Given the description of an element on the screen output the (x, y) to click on. 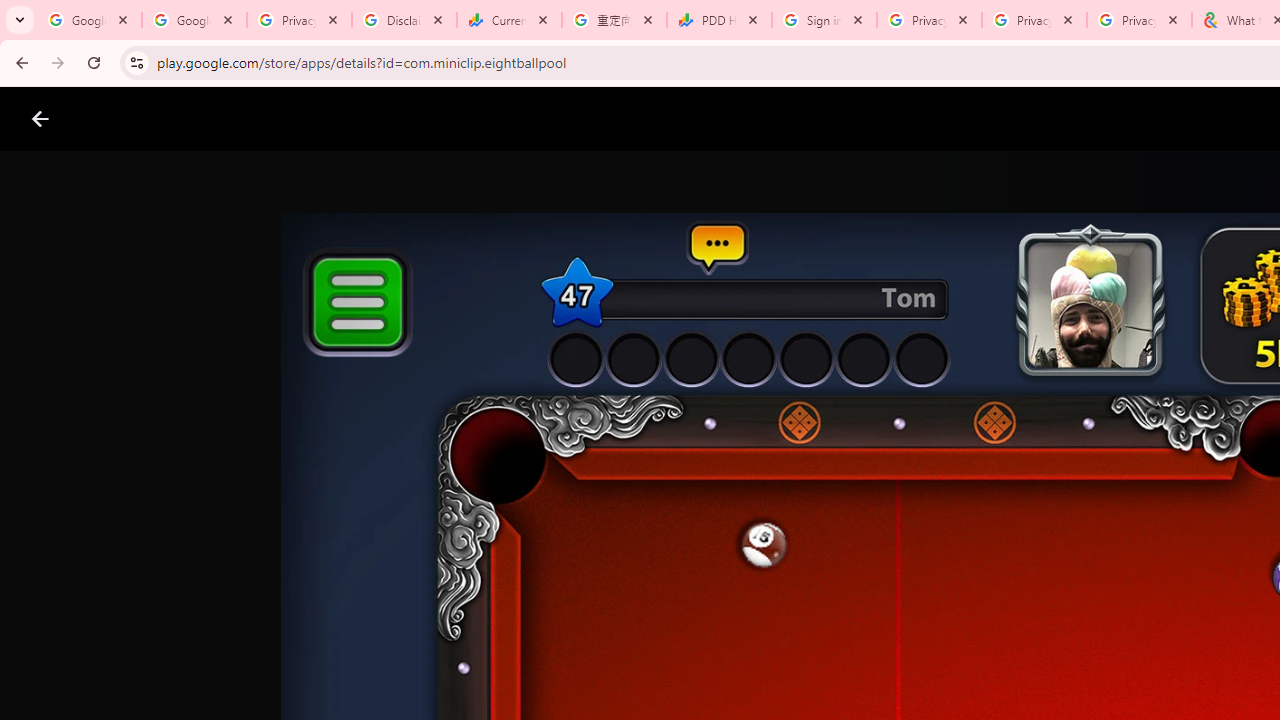
Sign in - Google Accounts (823, 20)
More info about this content rating (1013, 678)
PDD Holdings Inc - ADR (PDD) Price & News - Google Finance (718, 20)
Google Play logo (111, 119)
Google Workspace Admin Community (89, 20)
Content rating (973, 656)
Privacy Checkup (1033, 20)
Privacy Checkup (1138, 20)
Currencies - Google Finance (509, 20)
